Given the description of an element on the screen output the (x, y) to click on. 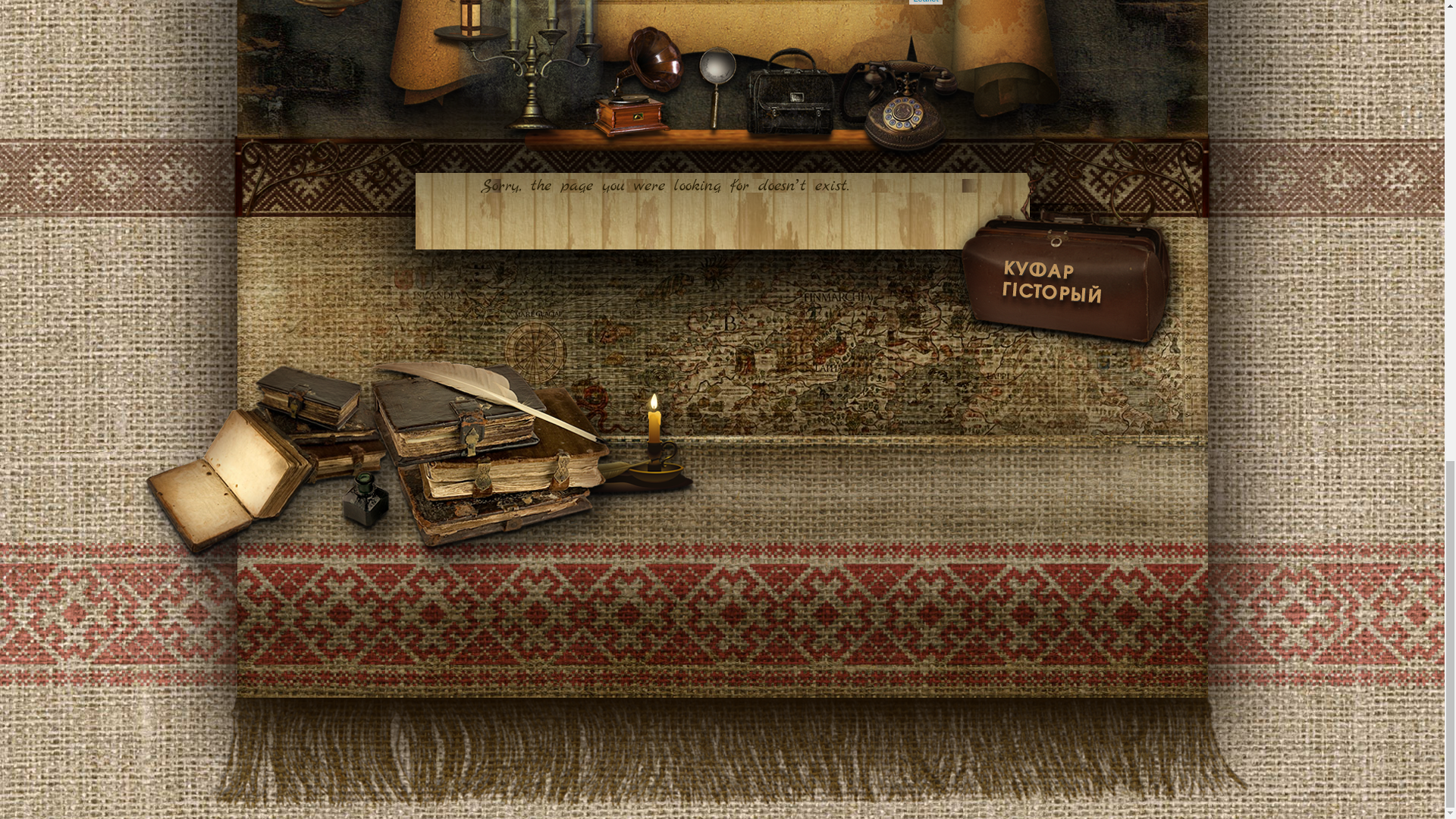
+ Element type: text (525, 638)
